Given the description of an element on the screen output the (x, y) to click on. 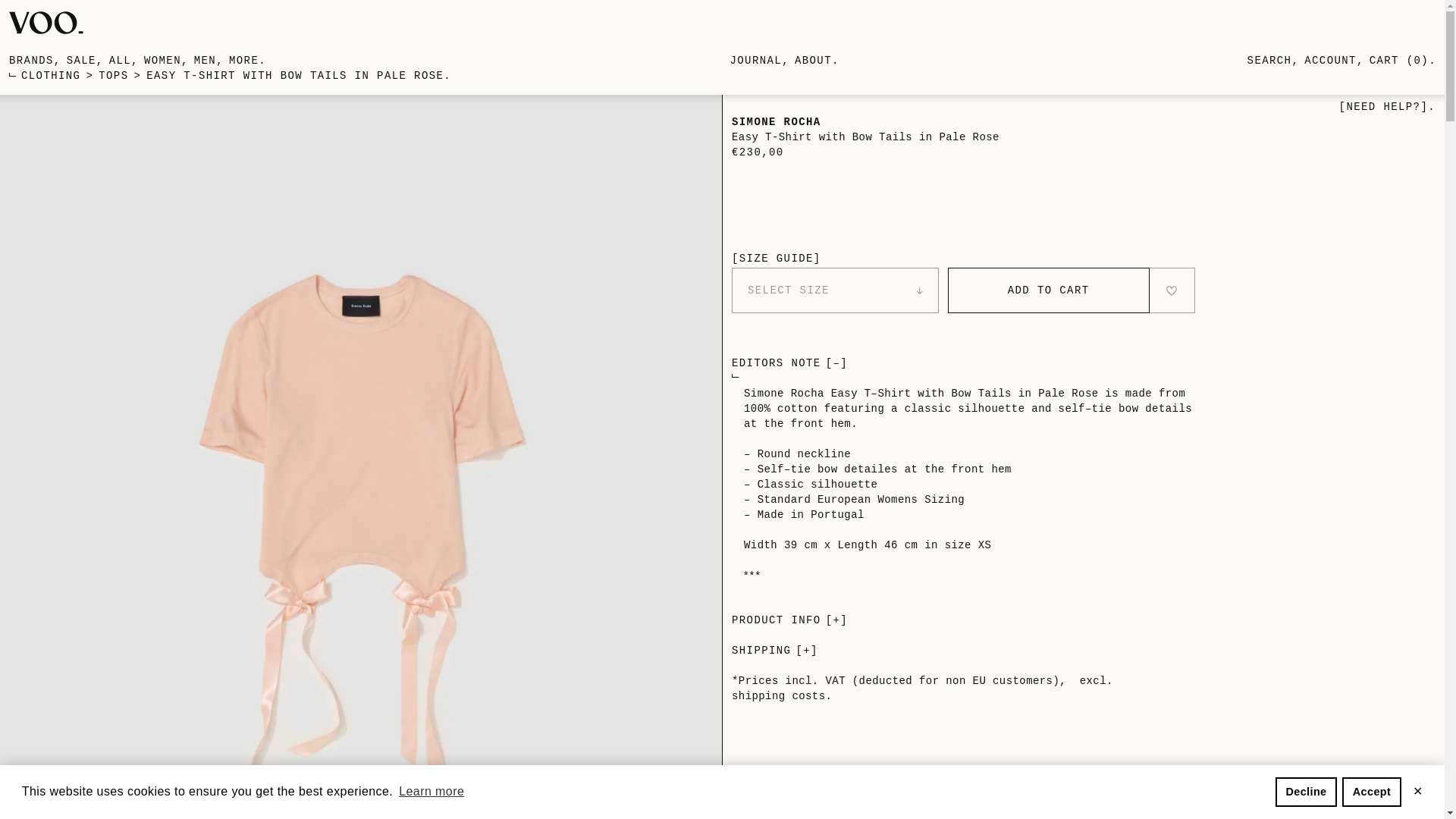
Voo Store (46, 22)
SALE (81, 60)
Decline (1305, 791)
Accept (1371, 791)
Learn more (430, 791)
BRANDS (30, 60)
